Given the description of an element on the screen output the (x, y) to click on. 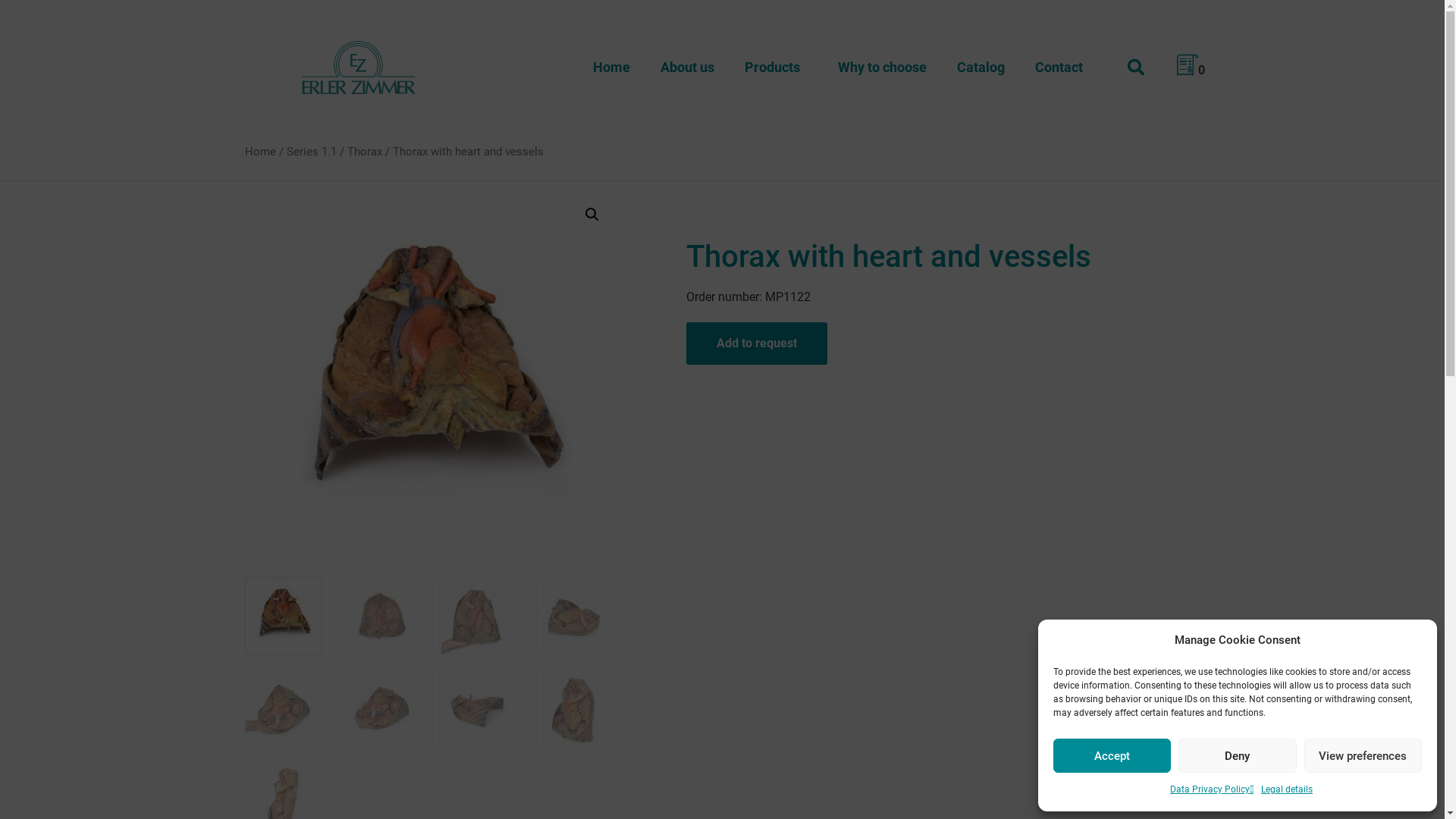
Add to request Element type: text (755, 342)
Thorax Element type: text (364, 151)
Deny Element type: text (1236, 755)
MP1122.jpg Element type: hover (430, 374)
Catalog Element type: text (980, 67)
View preferences Element type: text (1362, 755)
Contact Element type: text (1058, 67)
Products Element type: text (775, 67)
0 Element type: text (1190, 69)
Why to choose Element type: text (881, 67)
Home Element type: text (611, 67)
About us Element type: text (687, 67)
Legal details Element type: text (1286, 790)
Series 1.1 Element type: text (311, 151)
Home Element type: text (259, 151)
Accept Element type: text (1111, 755)
